Given the description of an element on the screen output the (x, y) to click on. 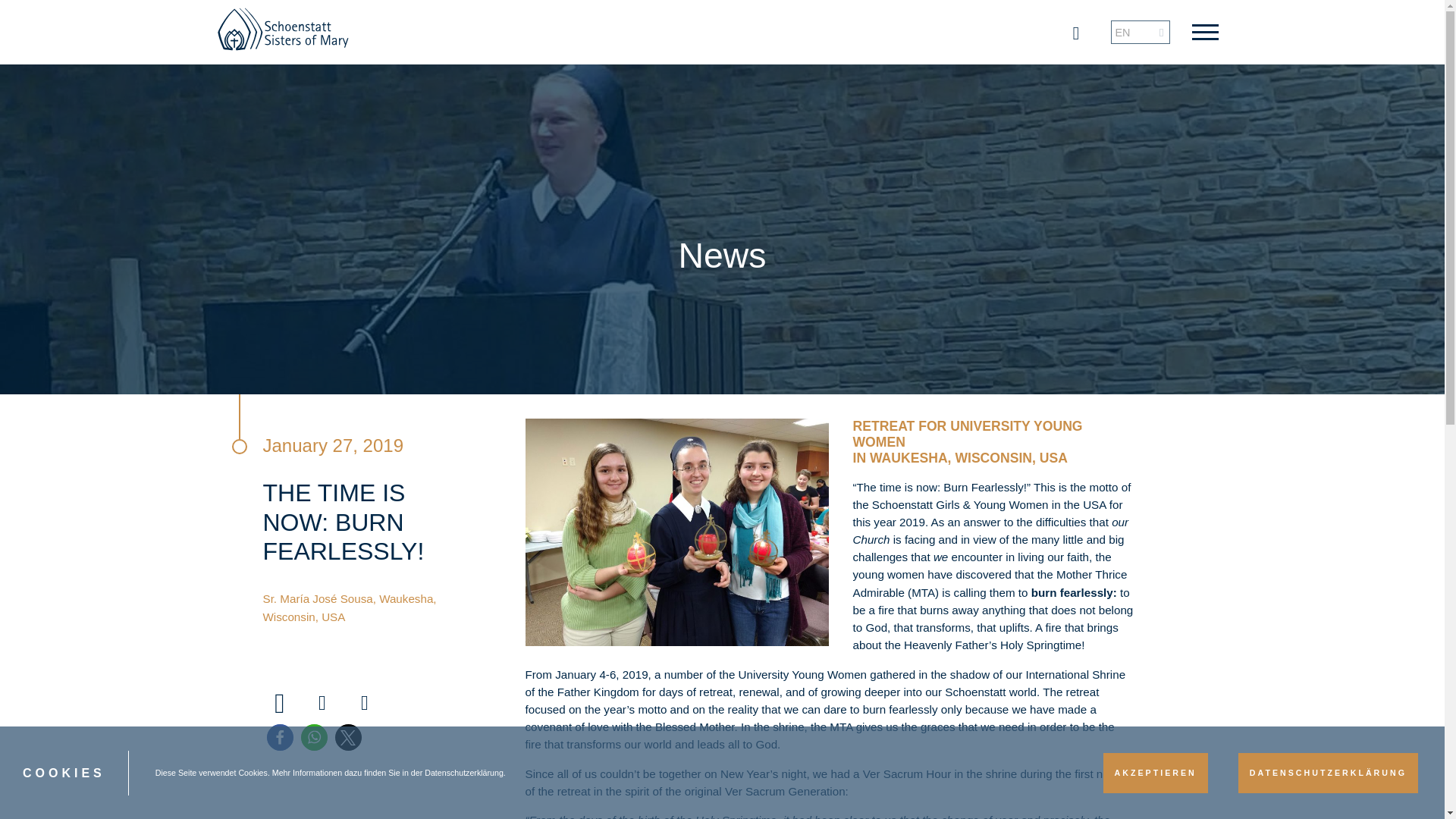
Share on Whatsapp (312, 737)
Like this (280, 703)
Search (13, 10)
Share on Facebook (280, 737)
AKZEPTIEREN (1155, 772)
Share on X (347, 737)
